Given the description of an element on the screen output the (x, y) to click on. 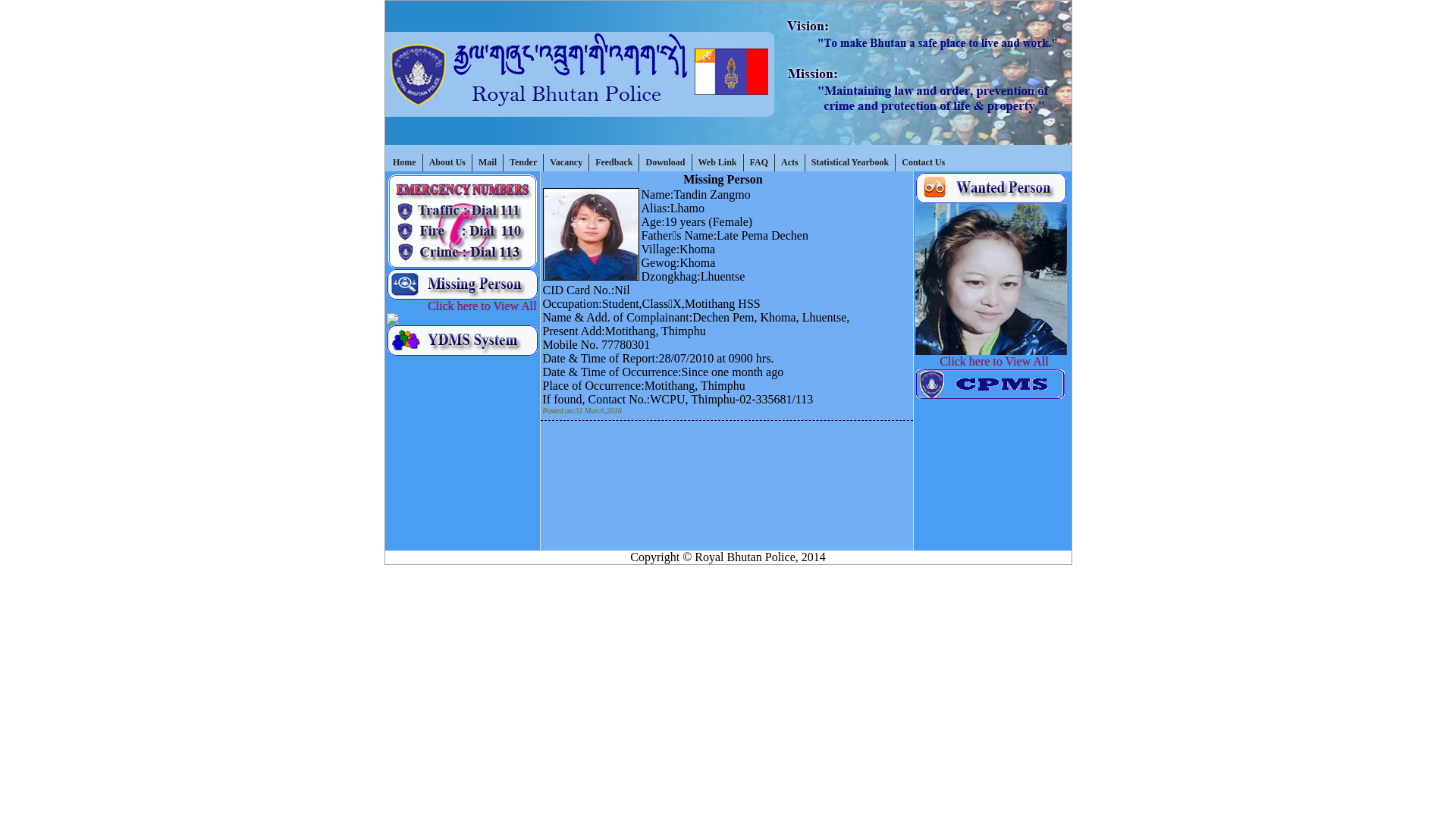
Web Link Element type: text (717, 162)
Statistical Yearbook Element type: text (850, 162)
Home Element type: text (404, 162)
Feedback Element type: text (614, 162)
Tender Element type: text (523, 162)
FAQ Element type: text (759, 162)
Click here to View All Element type: text (477, 305)
Acts Element type: text (790, 162)
Vacancy Element type: text (566, 162)
Contact Us Element type: text (922, 162)
Mail Element type: text (487, 162)
Click here to View All Element type: text (1005, 360)
About Us Element type: text (447, 162)
Download Element type: text (665, 162)
